Given the description of an element on the screen output the (x, y) to click on. 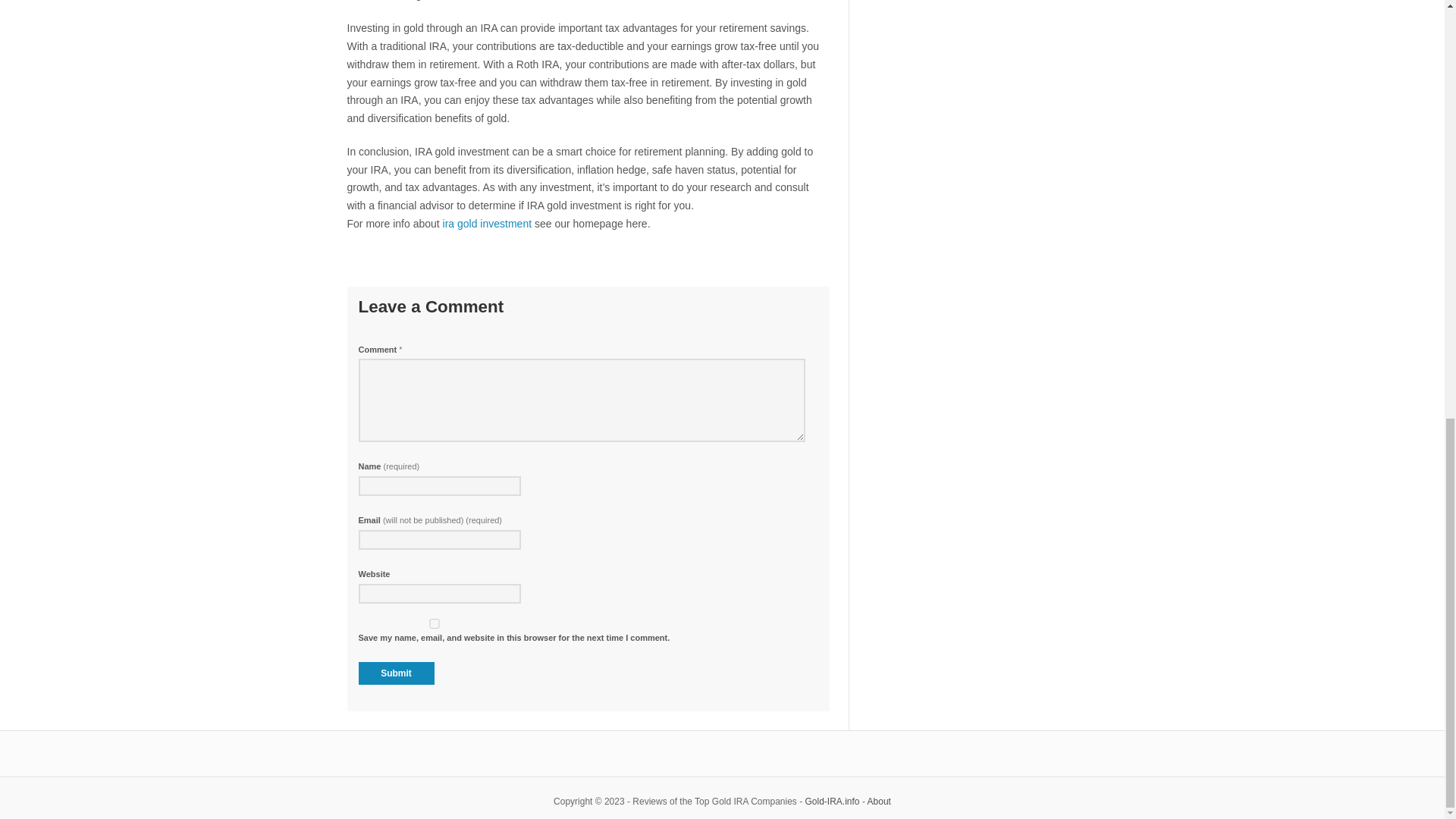
About (879, 801)
ira gold investment (487, 223)
yes (433, 623)
Submit (395, 672)
Gold-IRA.info (832, 801)
Submit (395, 672)
